Given the description of an element on the screen output the (x, y) to click on. 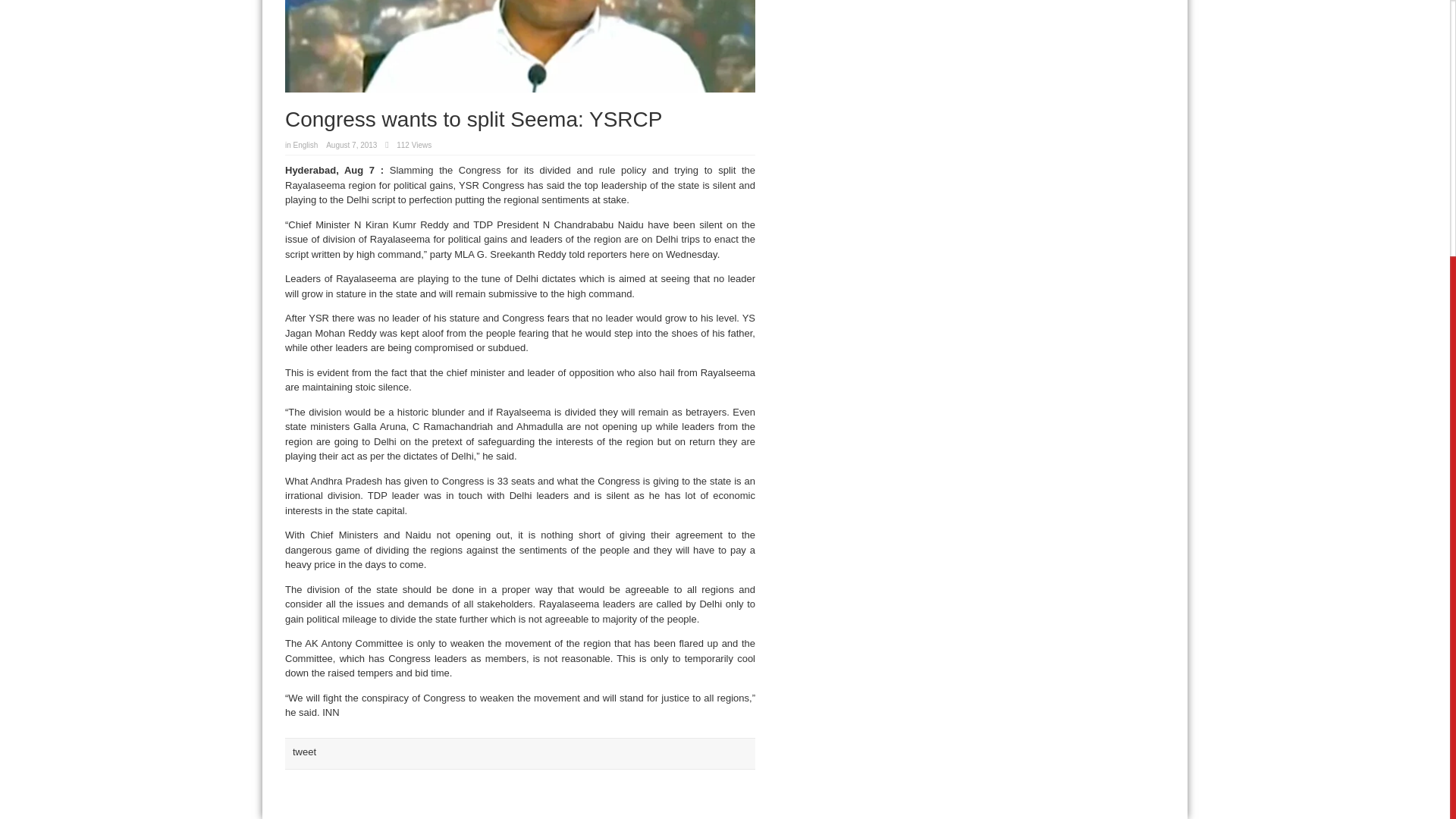
View all posts in English (306, 144)
English (306, 144)
Congress wants to split Seema: YSRCP (520, 46)
